Given the description of an element on the screen output the (x, y) to click on. 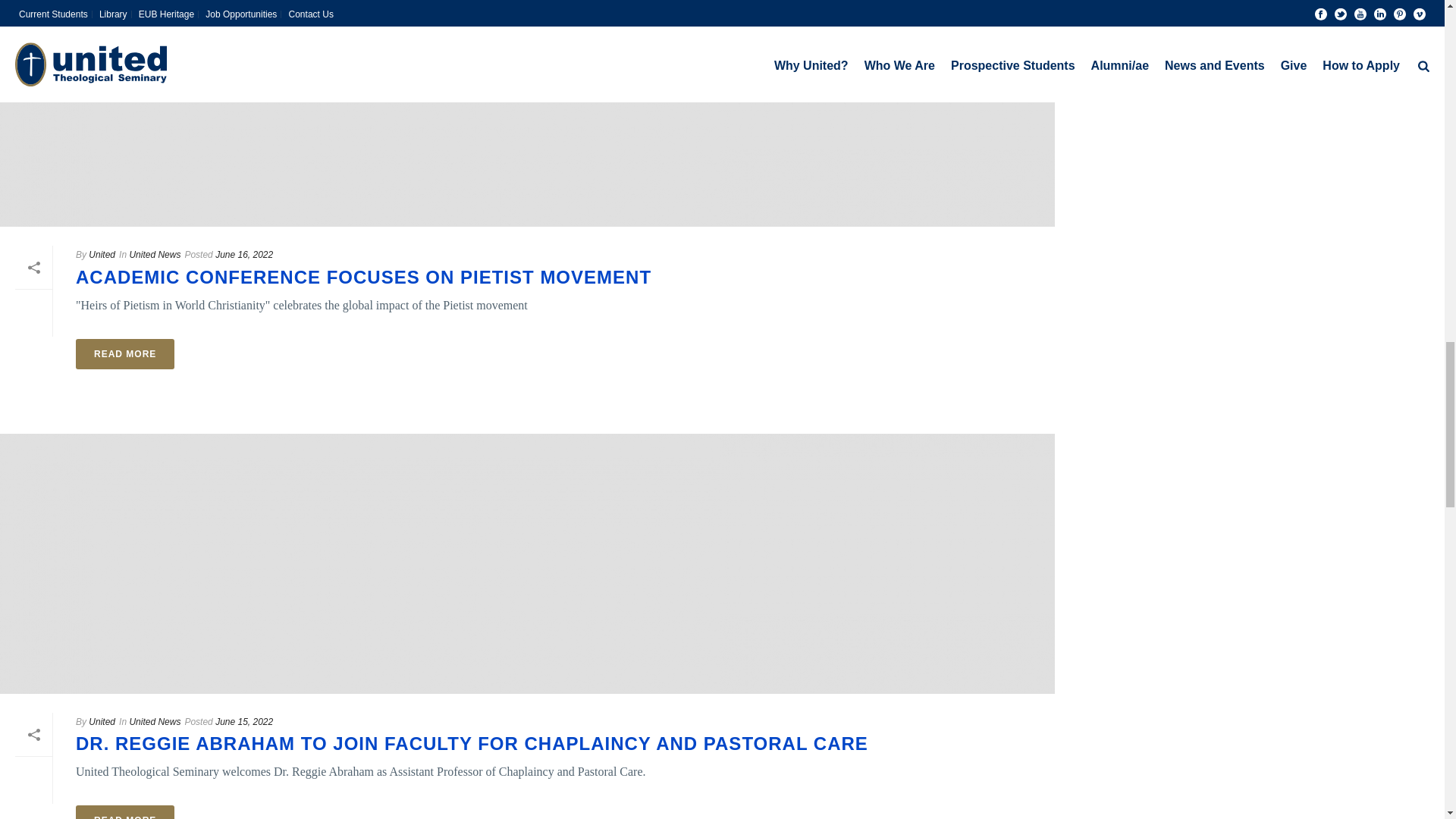
READ MORE (124, 812)
Posts by United (101, 254)
READ MORE (124, 354)
